Given the description of an element on the screen output the (x, y) to click on. 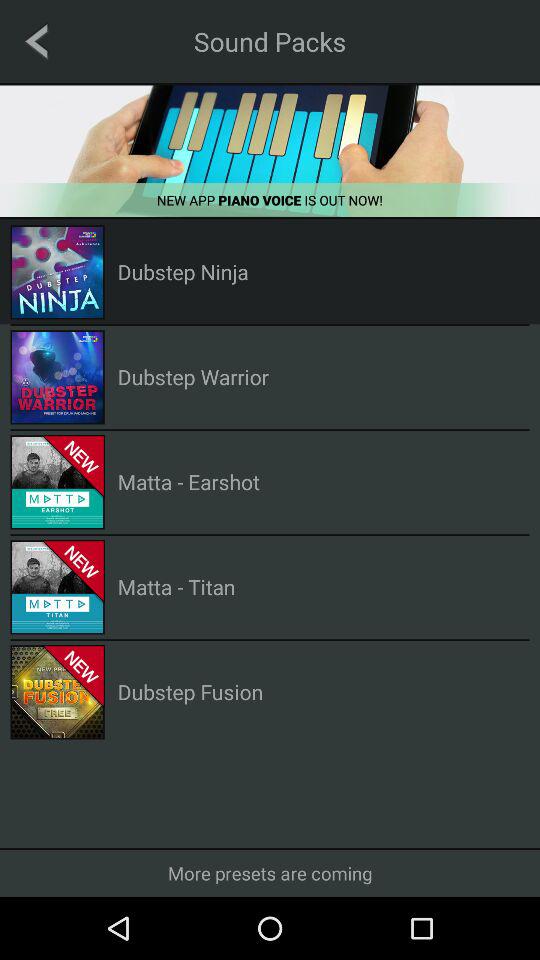
open the dubstep fusion icon (190, 691)
